Given the description of an element on the screen output the (x, y) to click on. 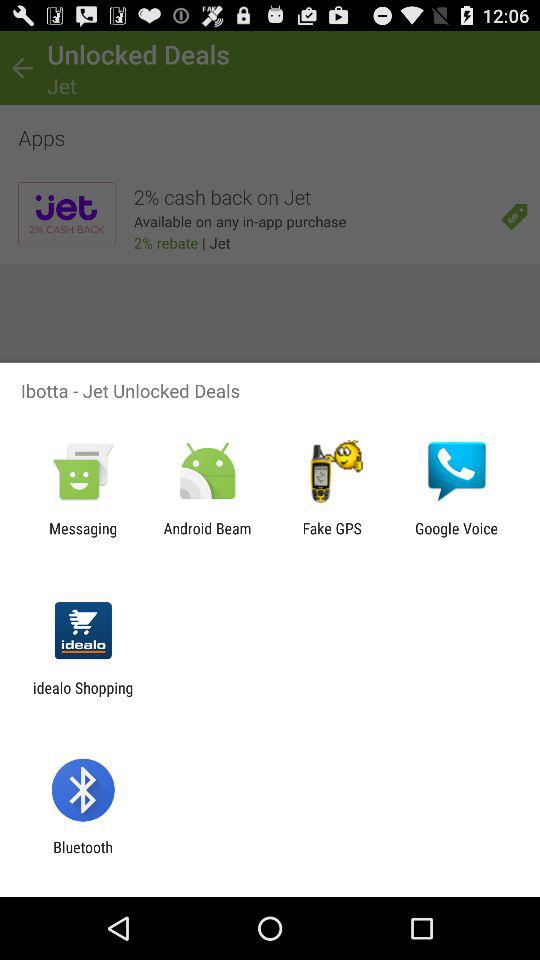
select the app to the right of android beam (331, 537)
